Given the description of an element on the screen output the (x, y) to click on. 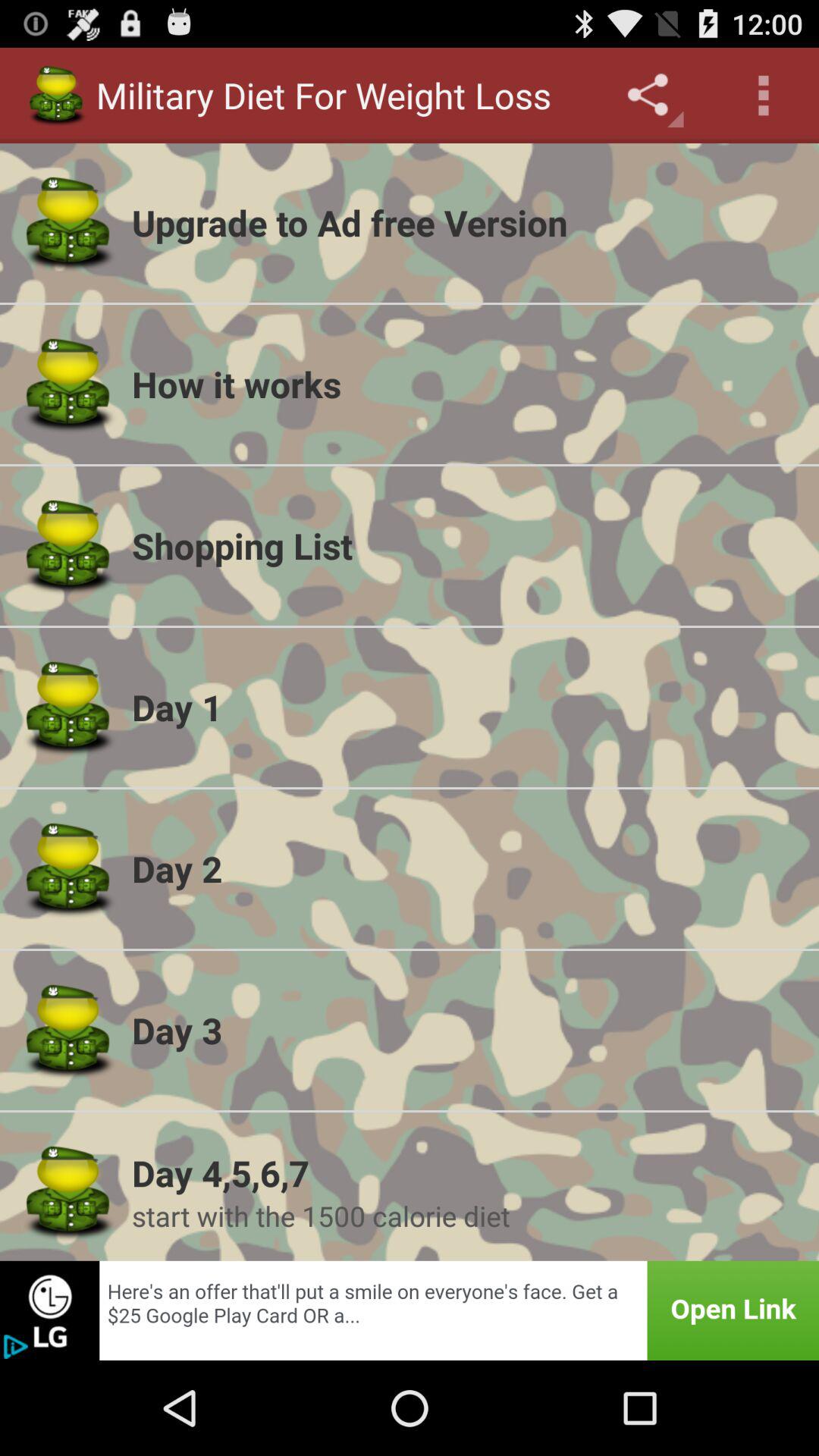
swipe until the how it works (465, 384)
